Given the description of an element on the screen output the (x, y) to click on. 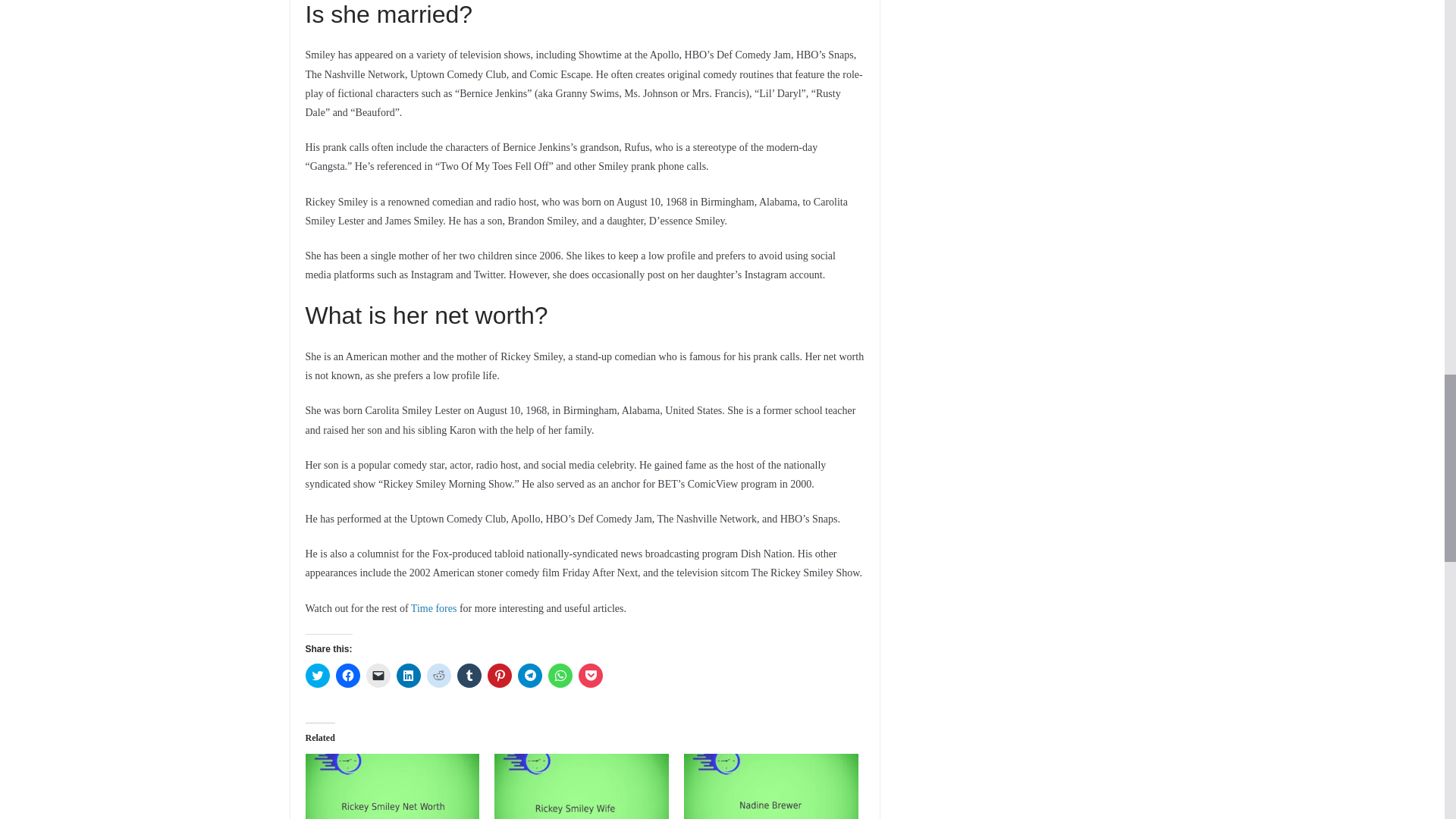
Click to share on Reddit (437, 675)
Time fores (433, 608)
Click to share on Facebook (346, 675)
Click to share on Twitter (316, 675)
Click to email a link to a friend (377, 675)
Click to share on LinkedIn (408, 675)
